Given the description of an element on the screen output the (x, y) to click on. 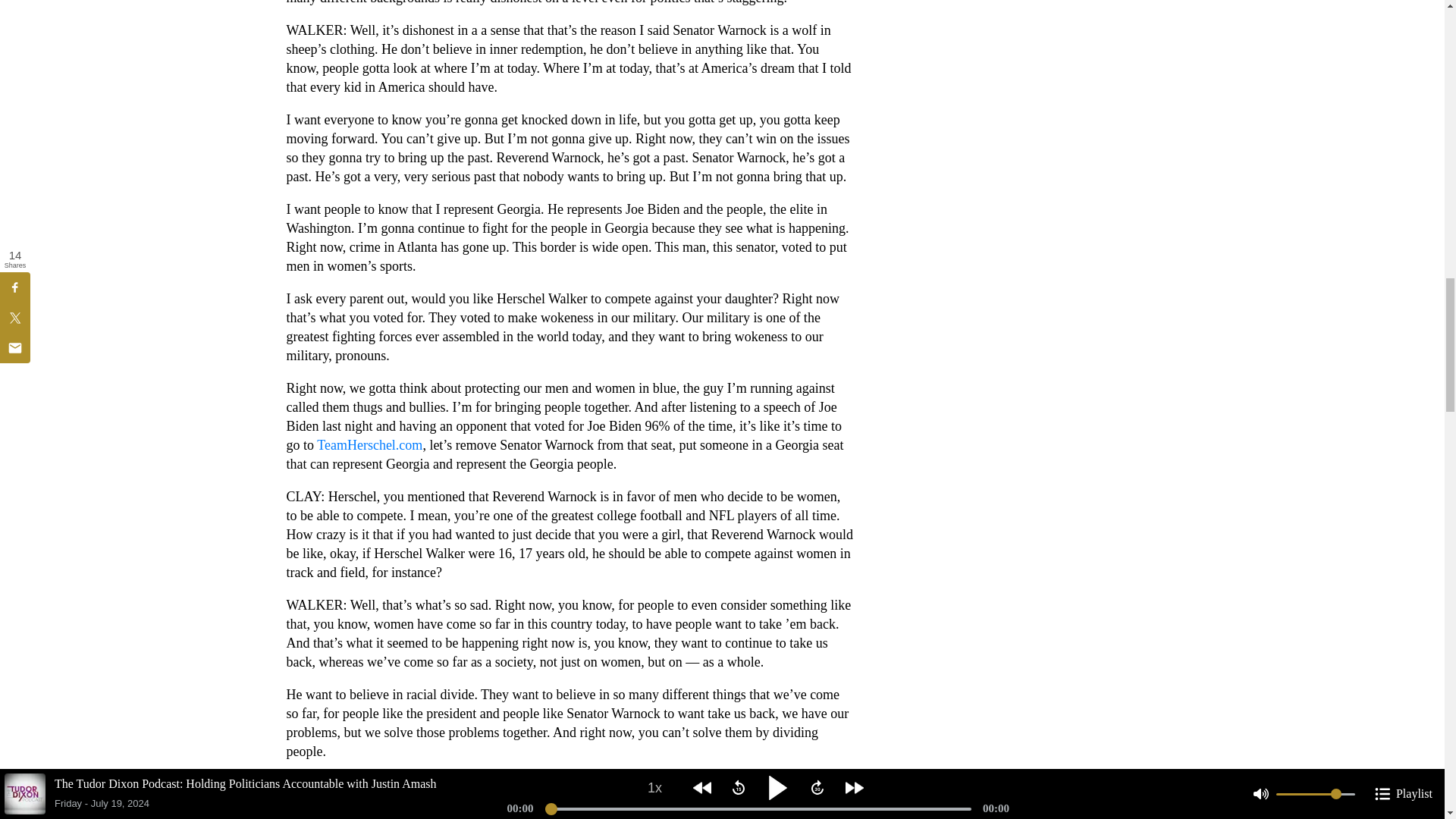
TeamHerschel.com (369, 444)
